Given the description of an element on the screen output the (x, y) to click on. 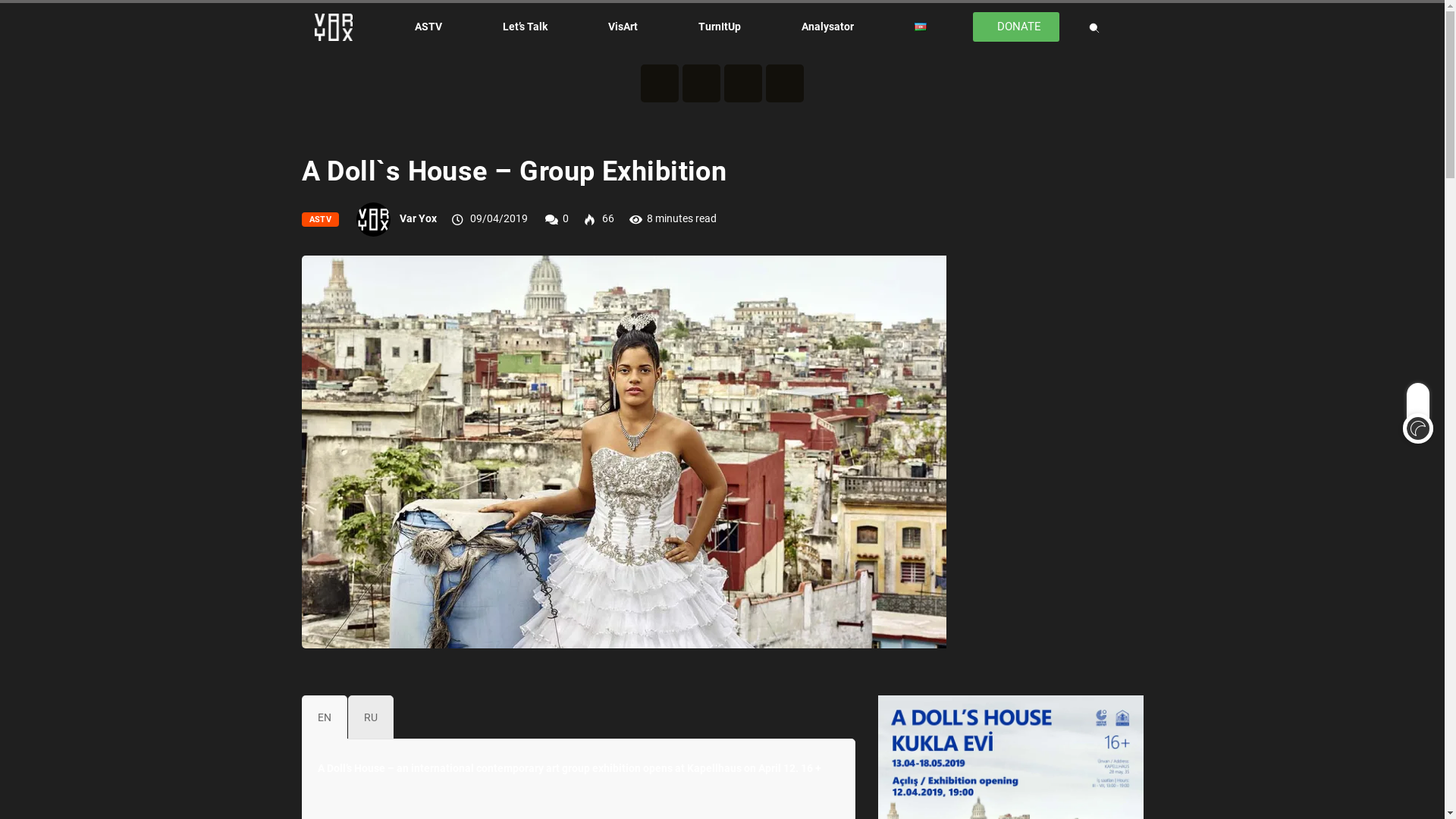
TurnItUp Element type: text (718, 26)
Analysator Element type: text (826, 26)
0 Element type: text (565, 218)
Var Yox Element type: text (417, 218)
RU Element type: text (369, 717)
ASTV Element type: text (427, 26)
EN Element type: text (324, 717)
DONATE Element type: text (1015, 26)
VisArt Element type: text (622, 26)
ASTV Element type: text (320, 219)
